Given the description of an element on the screen output the (x, y) to click on. 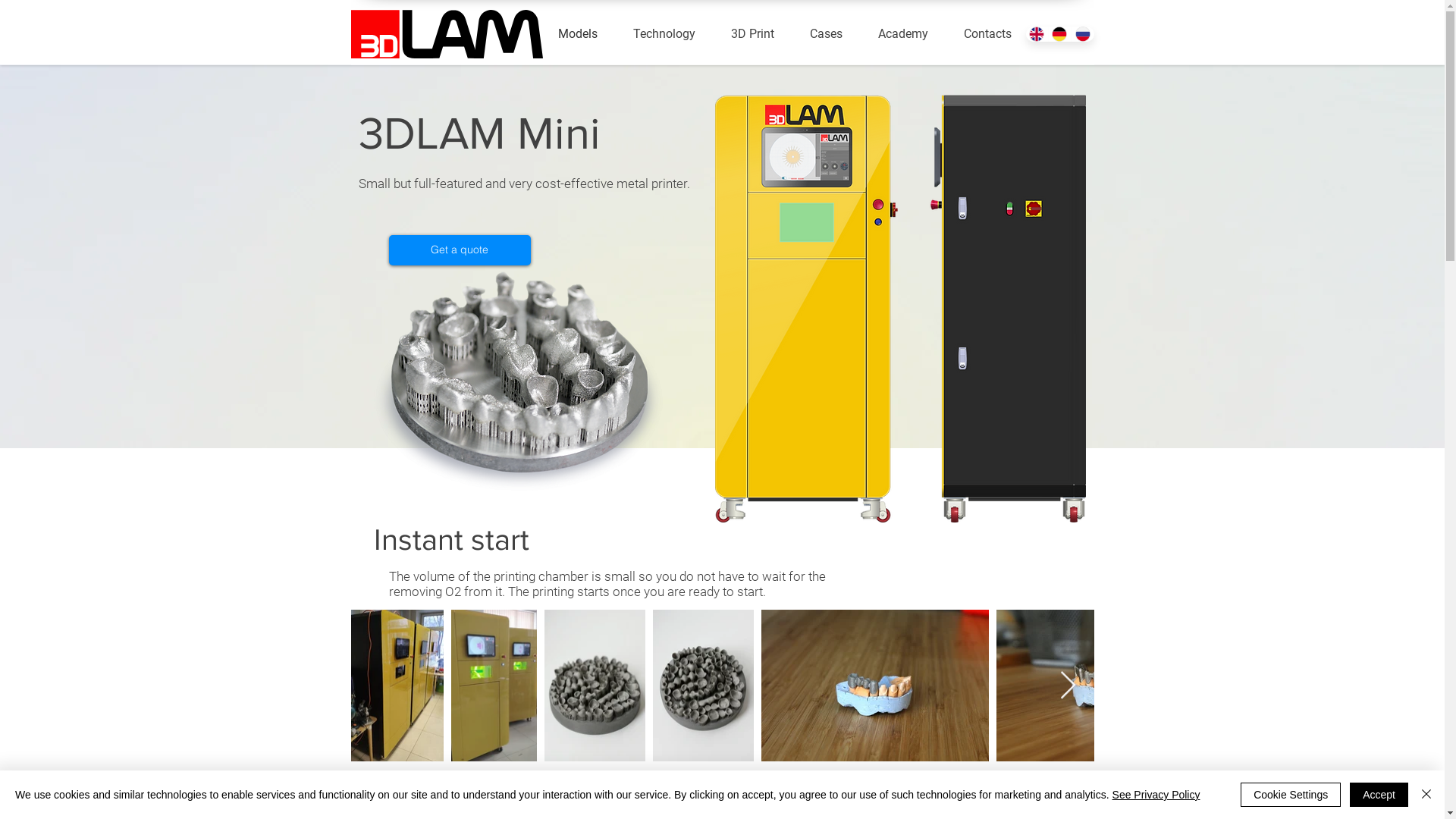
Cases Element type: text (825, 34)
Accept Element type: text (1378, 794)
3D Print Element type: text (751, 34)
Models Element type: text (577, 34)
Contacts Element type: text (987, 34)
3D printed bridge and crowns Element type: hover (518, 381)
Dental 3D printing Element type: hover (899, 308)
Get a quote Element type: text (459, 250)
Academy Element type: text (902, 34)
Technology Element type: text (664, 34)
Cookie Settings Element type: text (1290, 794)
See Privacy Policy Element type: text (1156, 794)
